Given the description of an element on the screen output the (x, y) to click on. 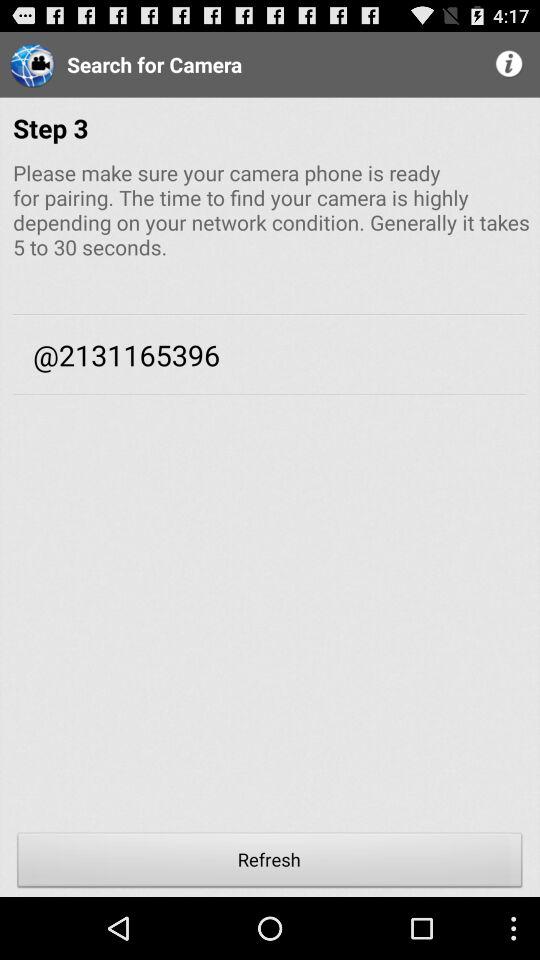
click the item above refresh icon (270, 626)
